Given the description of an element on the screen output the (x, y) to click on. 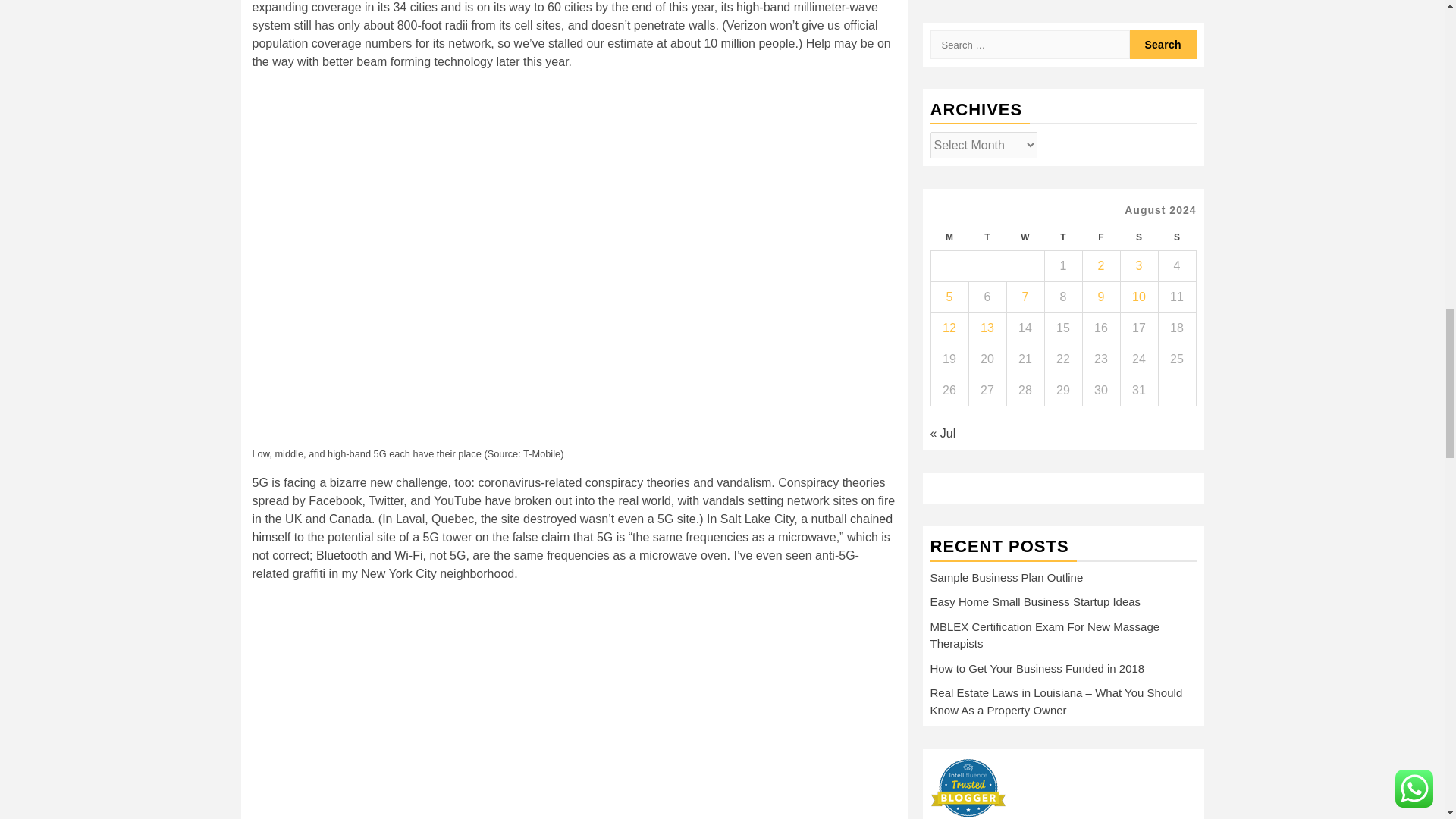
Canada (350, 518)
Bluetooth and Wi-Fi (369, 554)
chained himself (571, 527)
